Given the description of an element on the screen output the (x, y) to click on. 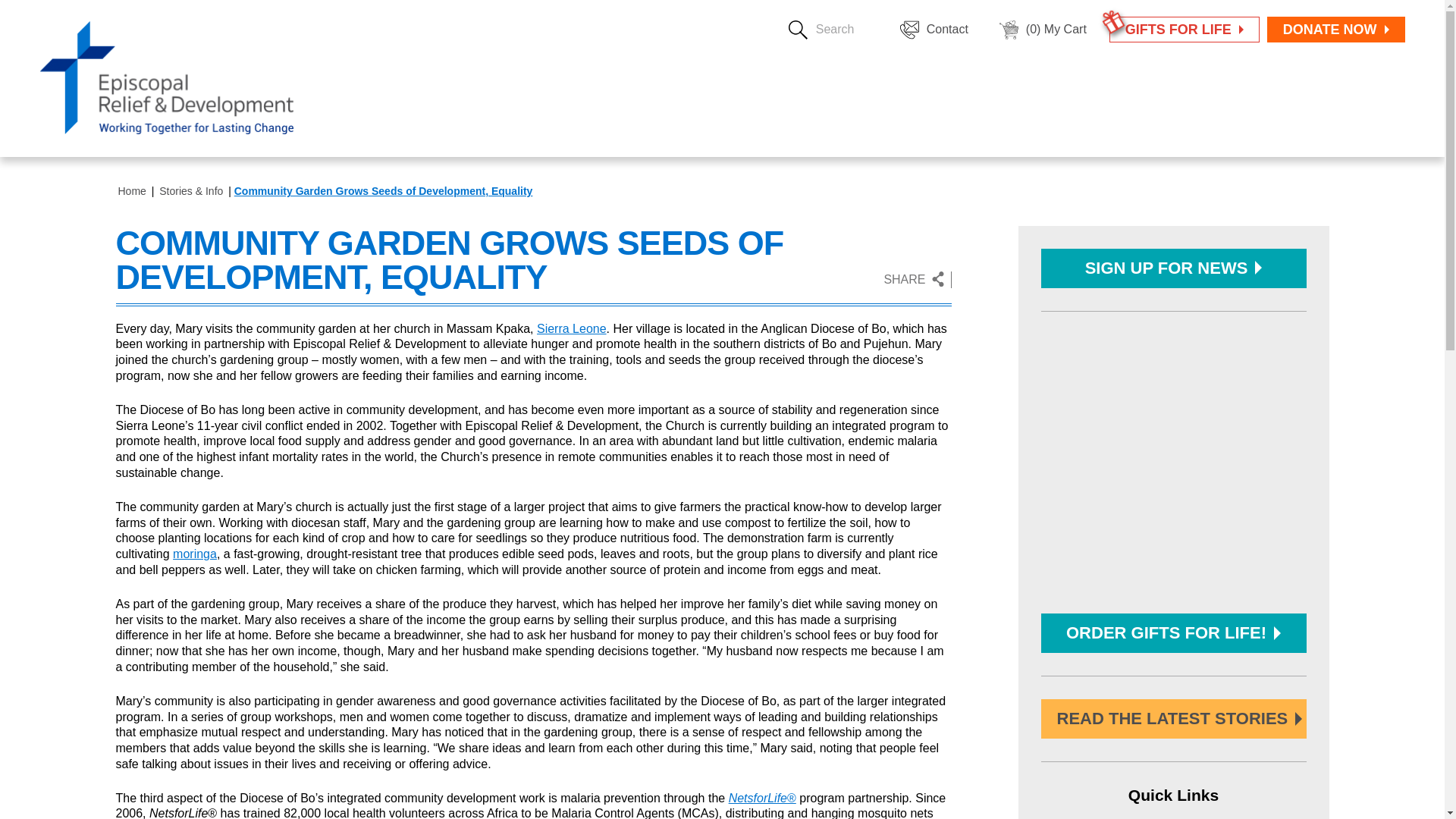
Contact (934, 29)
LinkedIn (1026, 280)
Facebook (965, 280)
GIFTS FOR LIFE (1184, 29)
Email (1056, 280)
moringa (194, 553)
DONATE NOW (1335, 29)
Sierra Leone (572, 328)
Twitter (996, 280)
